Given the description of an element on the screen output the (x, y) to click on. 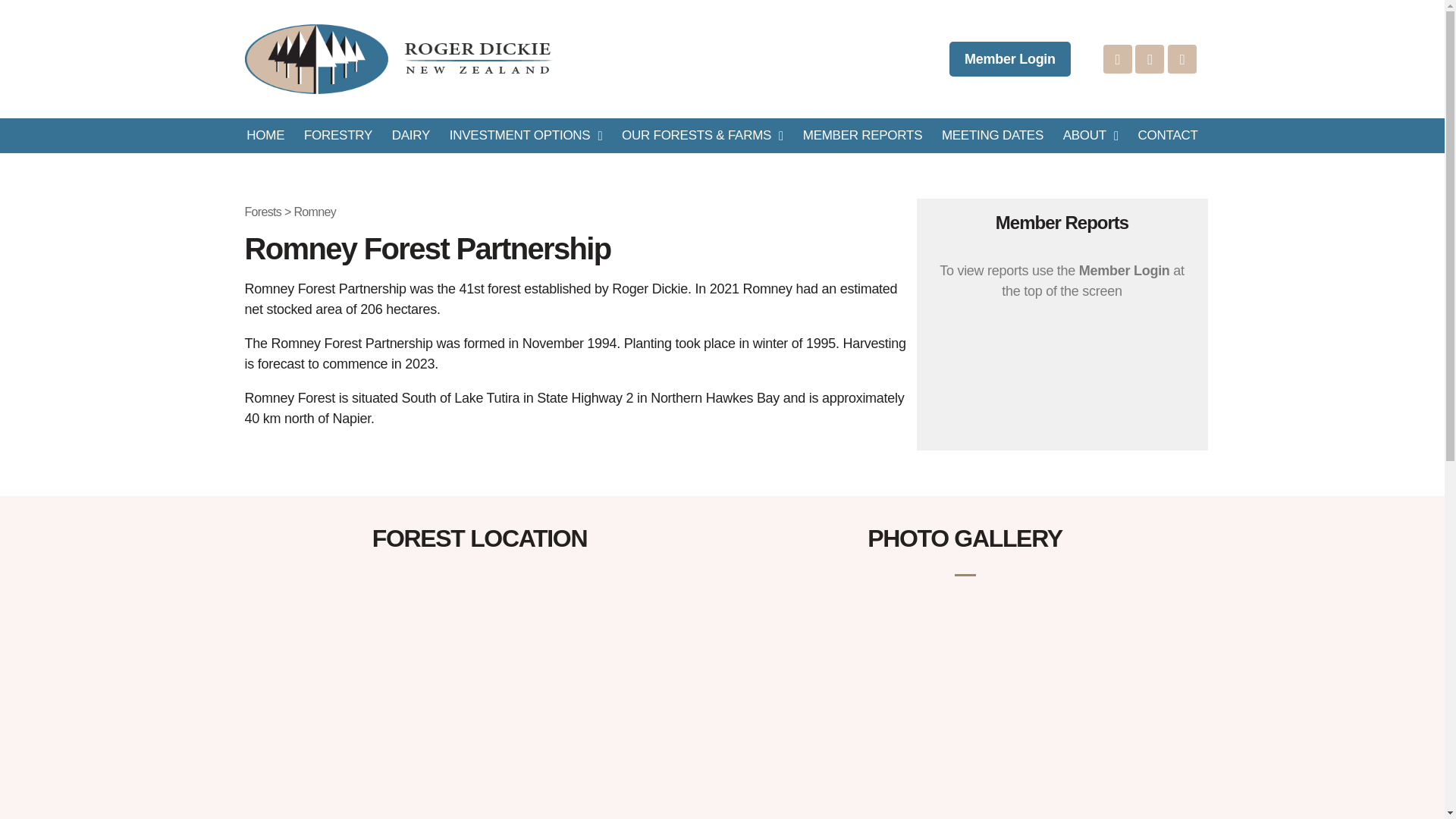
MEMBER REPORTS (862, 135)
INVESTMENT OPTIONS (525, 135)
Member Login (1009, 58)
DAIRY (410, 135)
CONTACT (1168, 135)
FORESTRY (337, 135)
HOME (264, 135)
MEETING DATES (991, 135)
ABOUT (1090, 135)
